Given the description of an element on the screen output the (x, y) to click on. 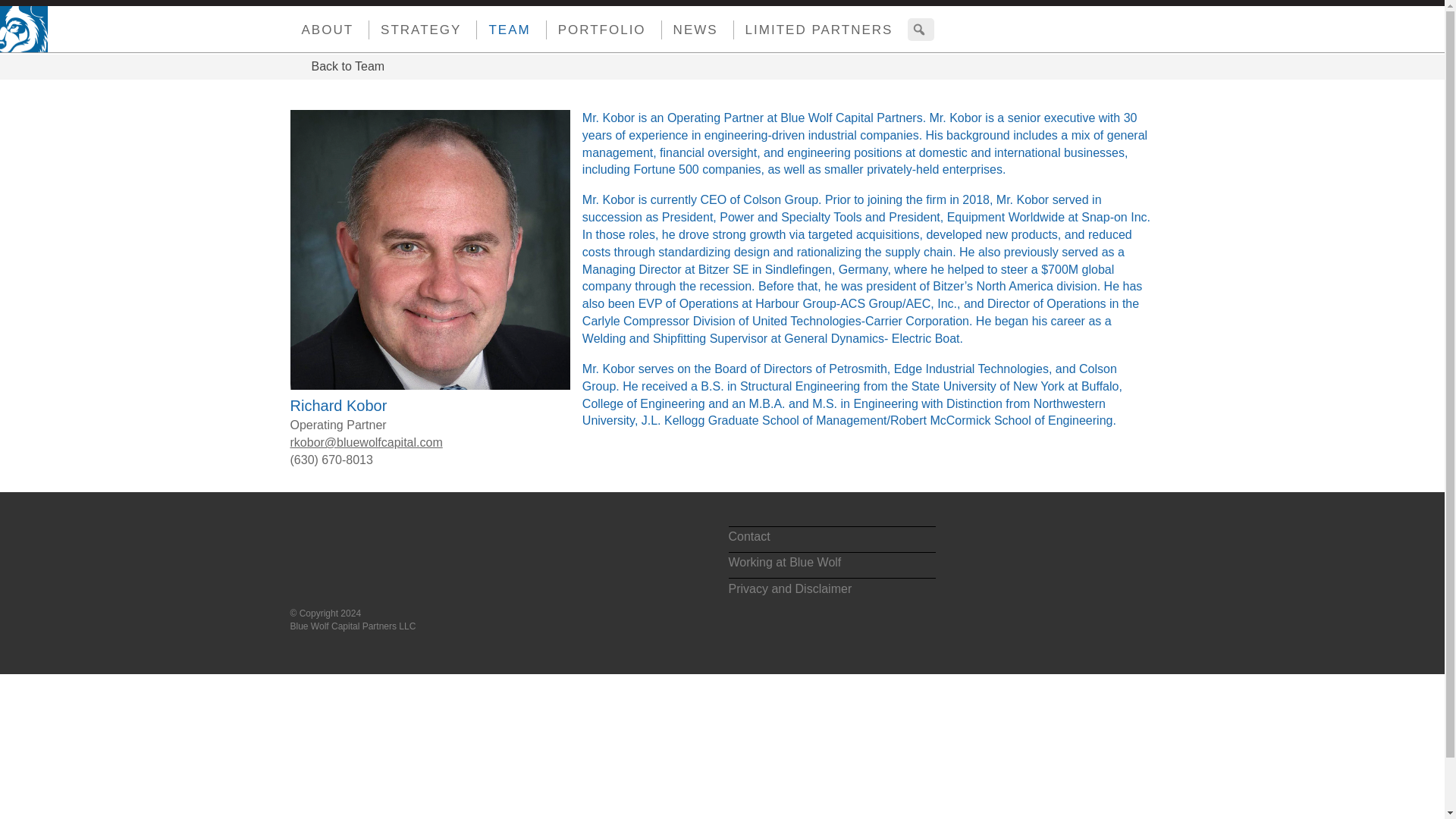
PORTFOLIO (596, 29)
Search (13, 13)
Privacy and Disclaimer (831, 590)
TEAM (503, 29)
Working at Blue Wolf (831, 565)
Blue Wolf Capital (371, 553)
ABOUT (321, 29)
NEWS (689, 29)
STRATEGY (415, 29)
Contact (831, 539)
Back to Team (336, 67)
Blue Wolf Capital (15, 20)
LIMITED PARTNERS (813, 29)
